Given the description of an element on the screen output the (x, y) to click on. 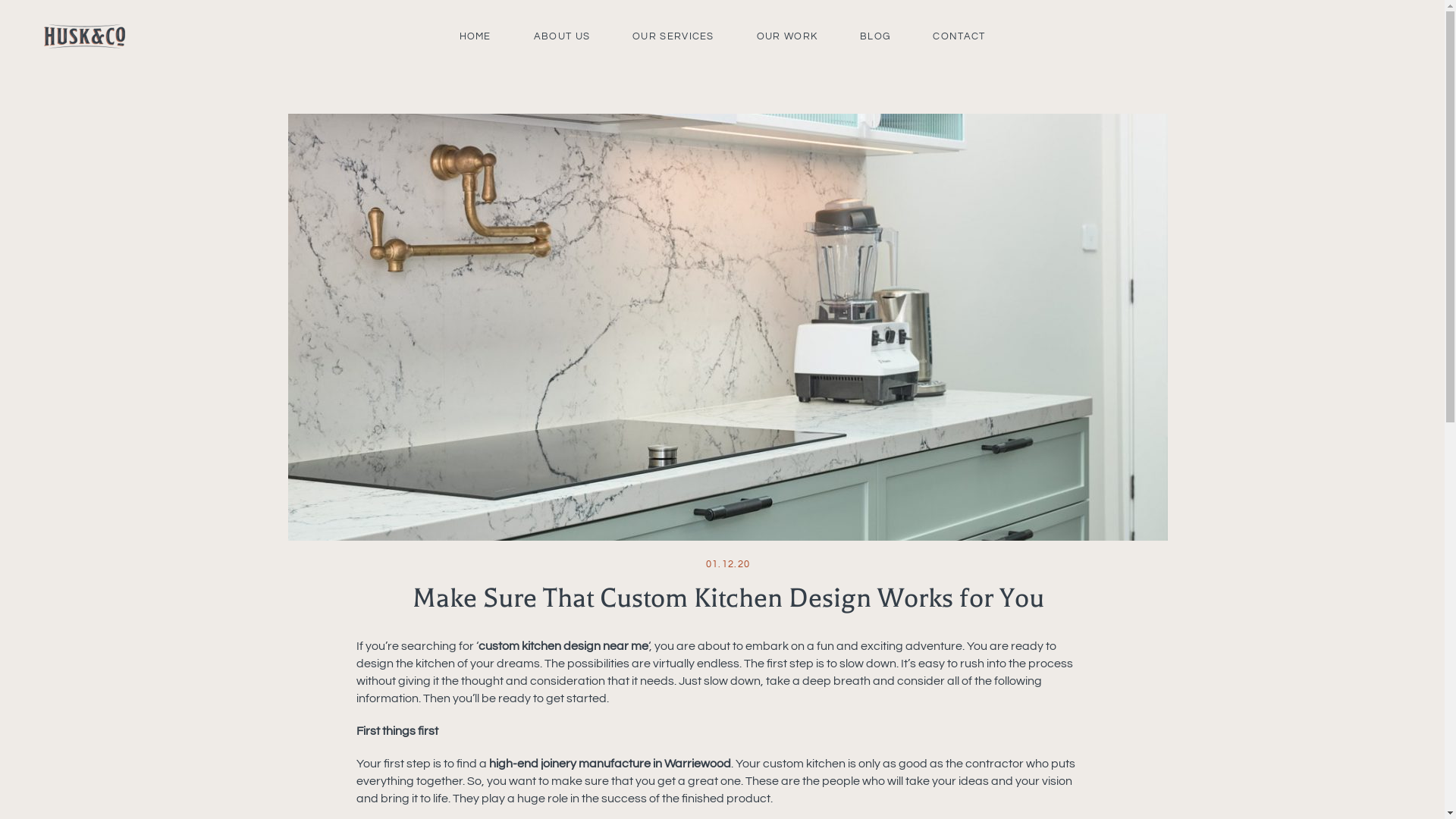
BLOG Element type: text (874, 36)
CONTACT Element type: text (958, 36)
OUR WORK Element type: text (786, 36)
OUR SERVICES Element type: text (673, 36)
ABOUT US Element type: text (561, 36)
HOME Element type: text (475, 36)
